Given the description of an element on the screen output the (x, y) to click on. 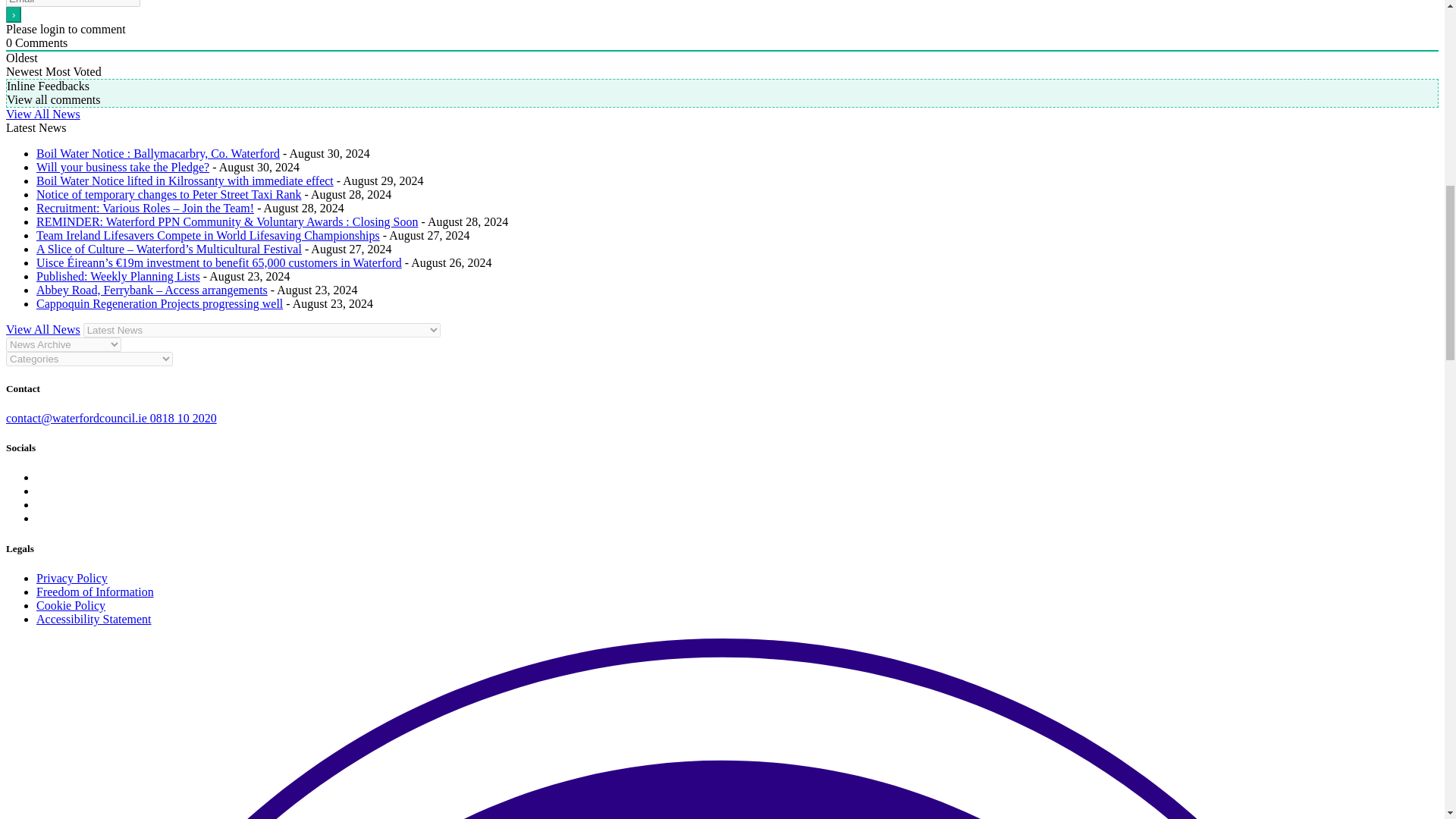
Freedom of Information (95, 591)
Cappoquin Regeneration Projects progressing well (159, 303)
Privacy Policy (71, 577)
Published: Weekly Planning Lists (118, 276)
Will your business take the Pledge? (122, 166)
View All News (42, 328)
View All News (42, 113)
Boil Water Notice : Ballymacarbry, Co. Waterford (157, 153)
Notice of temporary changes to Peter Street Taxi Rank (168, 194)
